Given the description of an element on the screen output the (x, y) to click on. 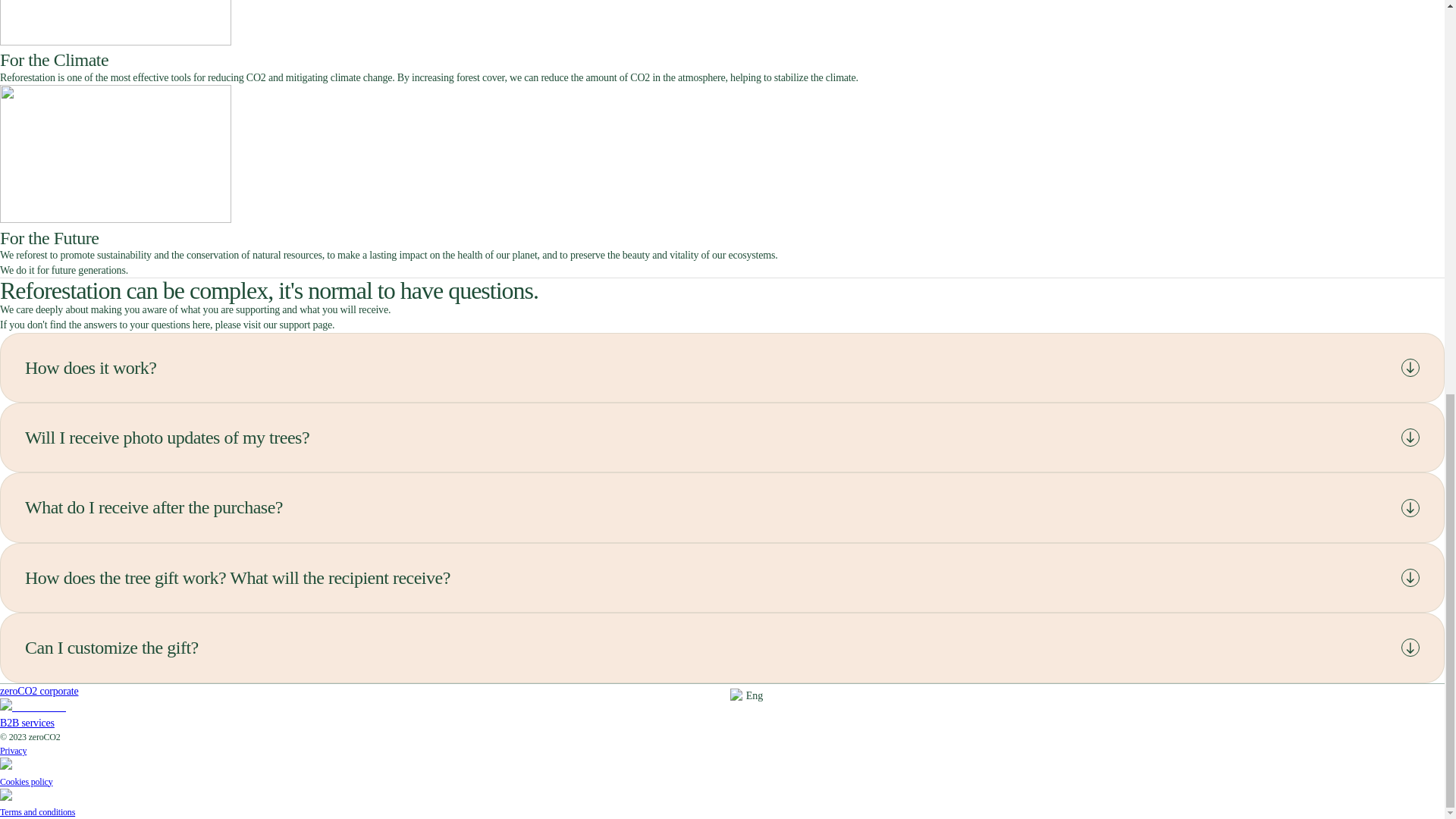
Eng (746, 695)
B2B services (361, 730)
zeroCO2 corporate (361, 698)
